Given the description of an element on the screen output the (x, y) to click on. 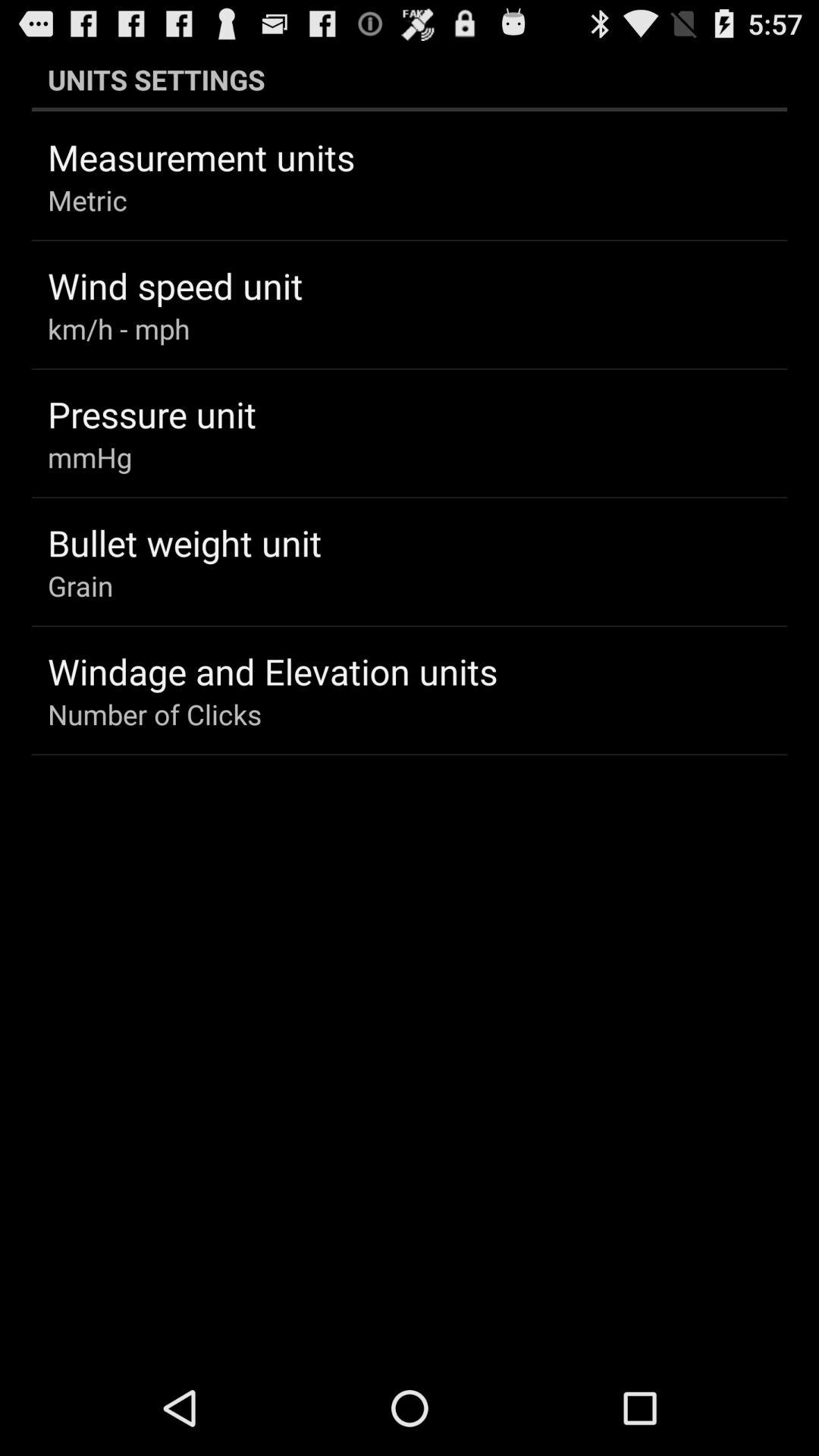
jump until km/h - mph app (118, 328)
